Given the description of an element on the screen output the (x, y) to click on. 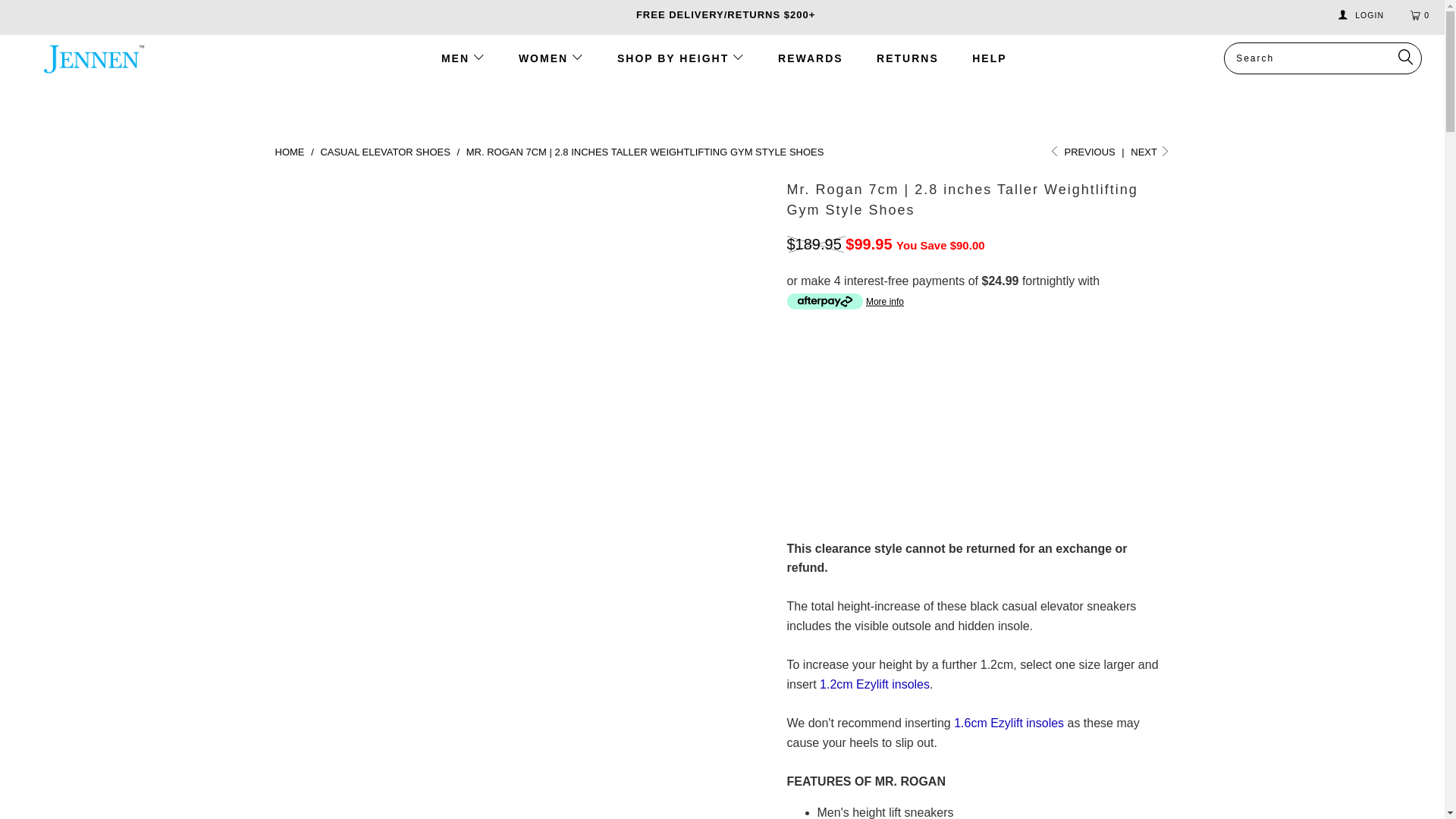
0 Element type: text (1421, 15)
RETURNS Element type: text (907, 59)
1.6cm Ezylift insoles Element type: text (1008, 722)
REWARDS Element type: text (810, 59)
HOME Element type: text (290, 151)
SHOP BY HEIGHT Element type: text (680, 59)
MEN Element type: text (463, 59)
HELP Element type: text (989, 59)
LOGIN Element type: text (1361, 15)
More info Element type: text (845, 301)
  FREE DELIVERY/RETURNS $200+ Element type: text (722, 14)
1.2cm Ezylift insoles Element type: text (874, 683)
WOMEN Element type: text (550, 59)
PREVIOUS Element type: text (1082, 151)
CASUAL ELEVATOR SHOES Element type: text (386, 151)
JENNEN Shoes Element type: hover (92, 59)
NEXT Element type: text (1149, 151)
